Given the description of an element on the screen output the (x, y) to click on. 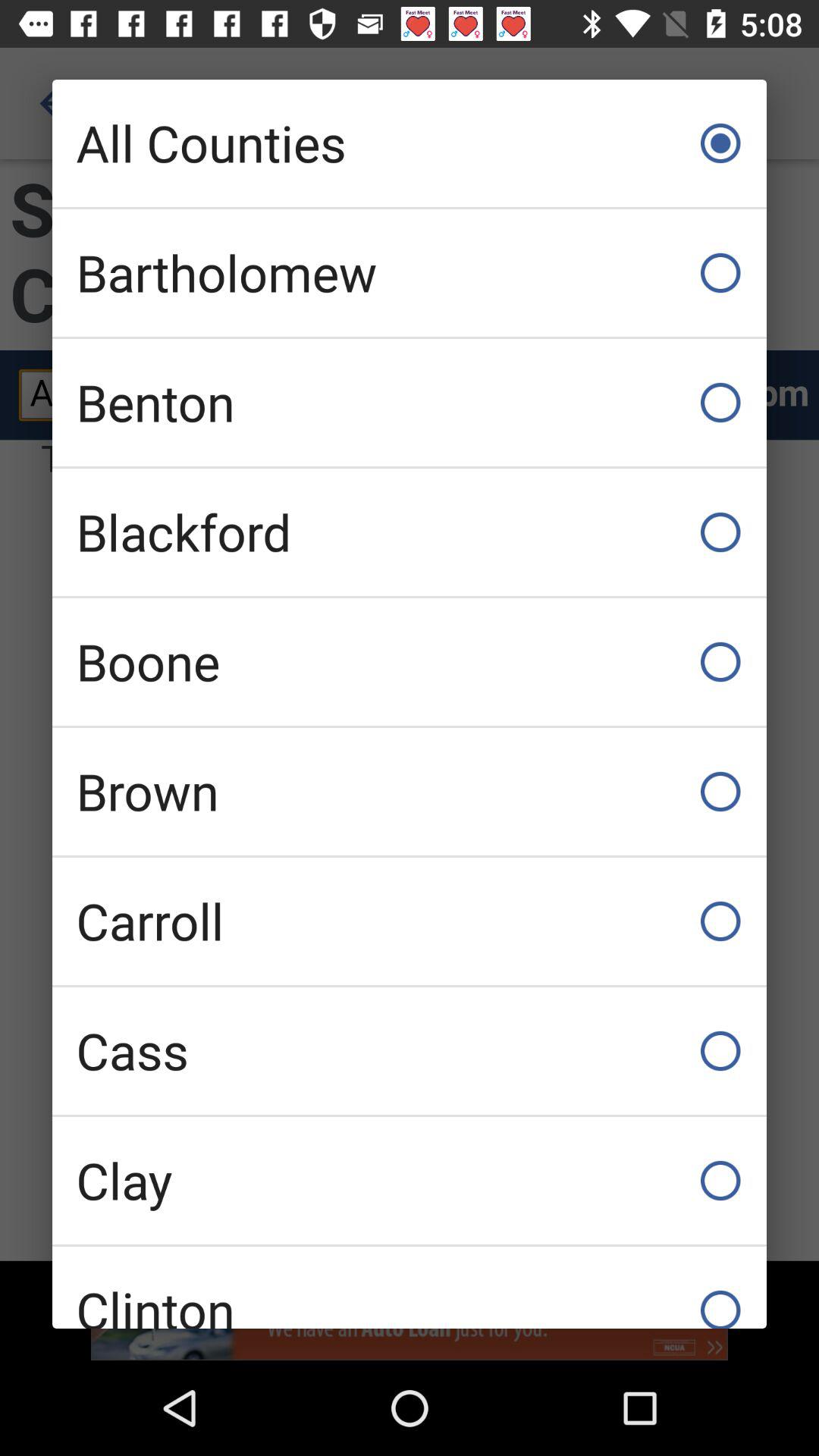
press the item below cass (409, 1180)
